Given the description of an element on the screen output the (x, y) to click on. 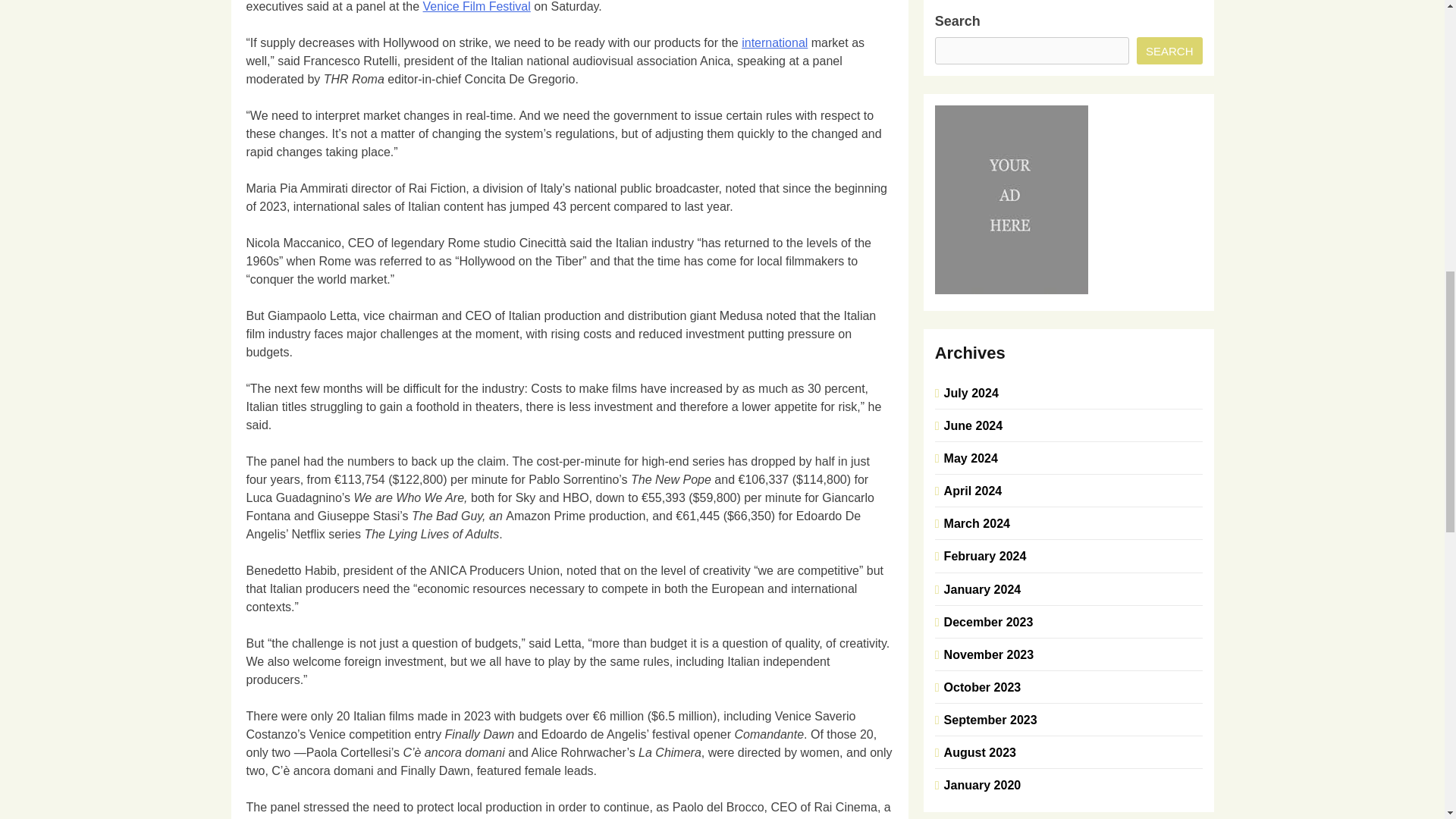
Venice Film Festival (477, 6)
